Given the description of an element on the screen output the (x, y) to click on. 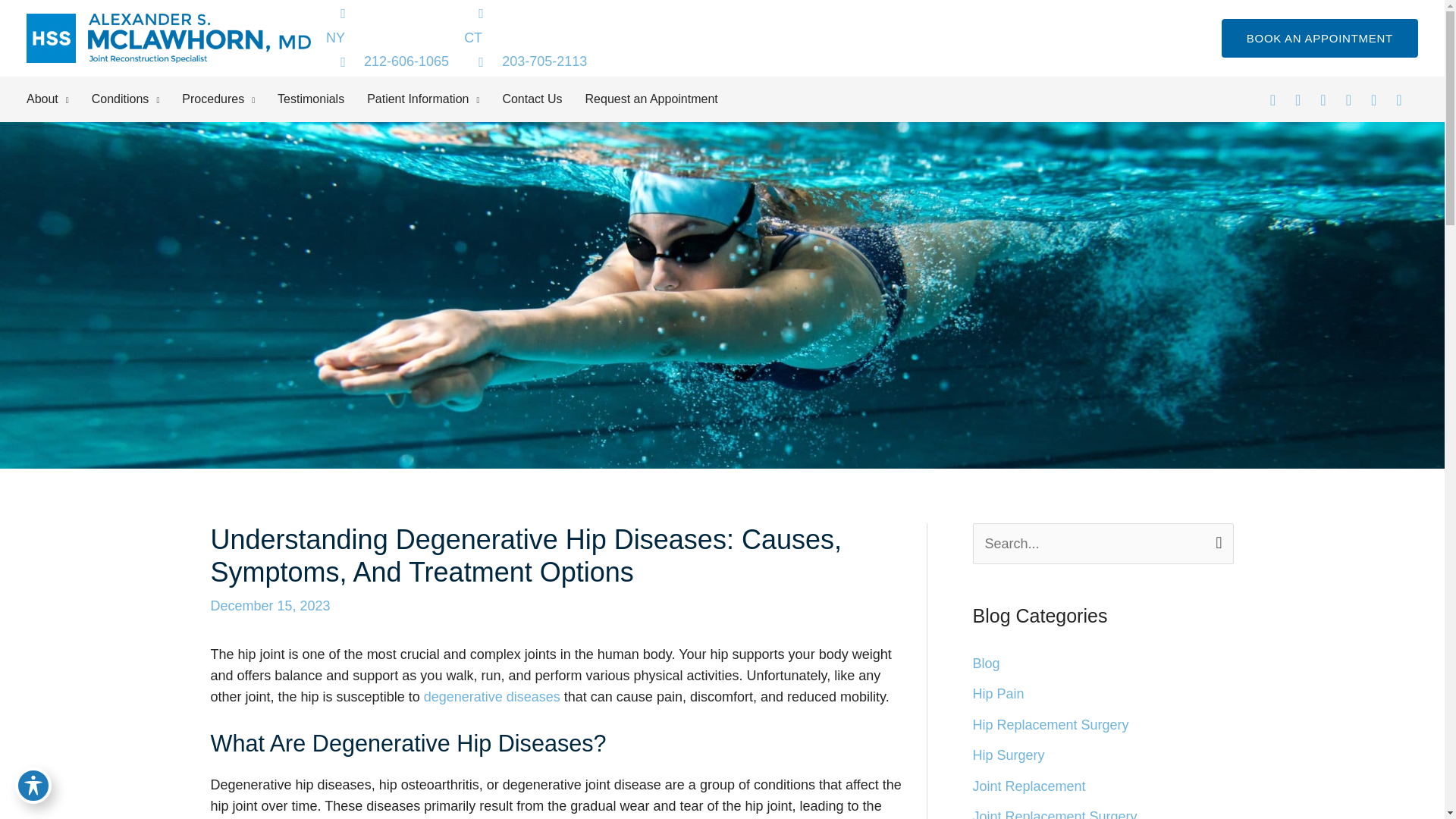
203-705-2113 (525, 61)
NY (387, 36)
Testimonials (322, 99)
Patient Information (434, 99)
Conditions (137, 99)
BOOK AN APPOINTMENT (1319, 37)
212-606-1065 (387, 61)
About (58, 99)
CT (525, 36)
Procedures (230, 99)
